Given the description of an element on the screen output the (x, y) to click on. 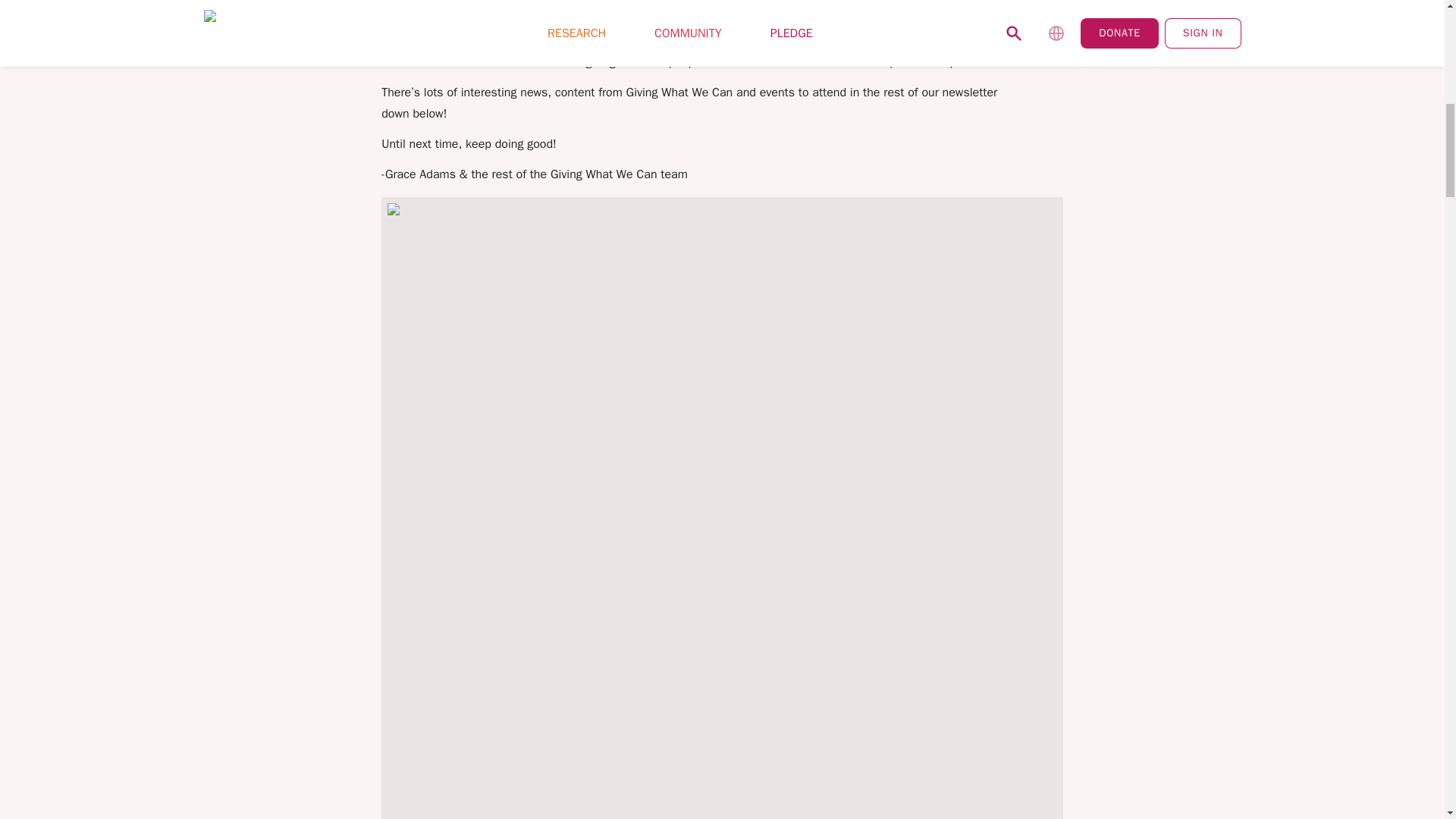
please fill in this form (911, 40)
